Given the description of an element on the screen output the (x, y) to click on. 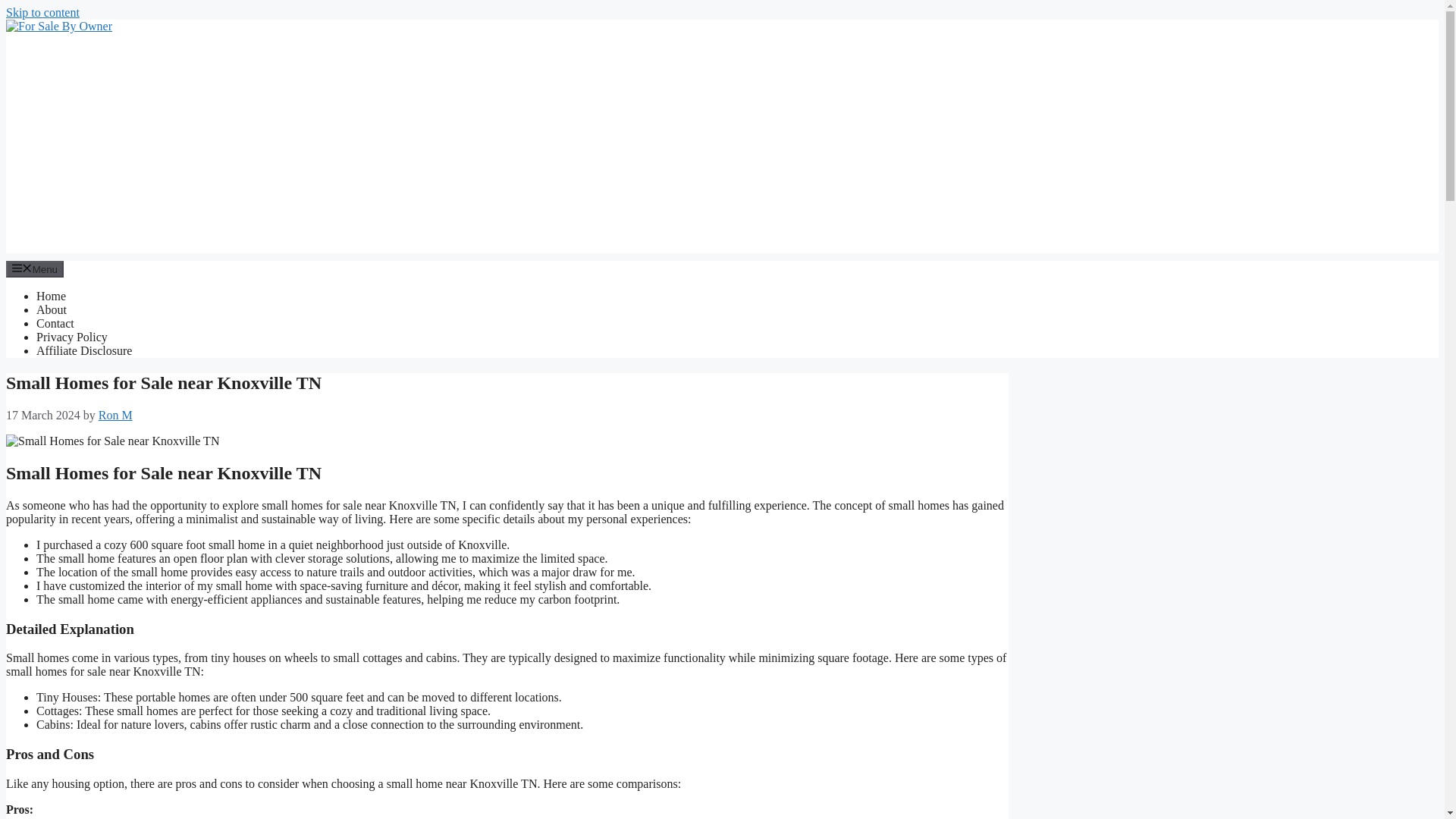
Contact (55, 323)
Privacy Policy (71, 336)
Skip to content (42, 11)
About (51, 309)
Skip to content (42, 11)
Ron M (115, 414)
View all posts by Ron M (115, 414)
Home (50, 295)
Menu (34, 269)
Affiliate Disclosure (84, 350)
